Given the description of an element on the screen output the (x, y) to click on. 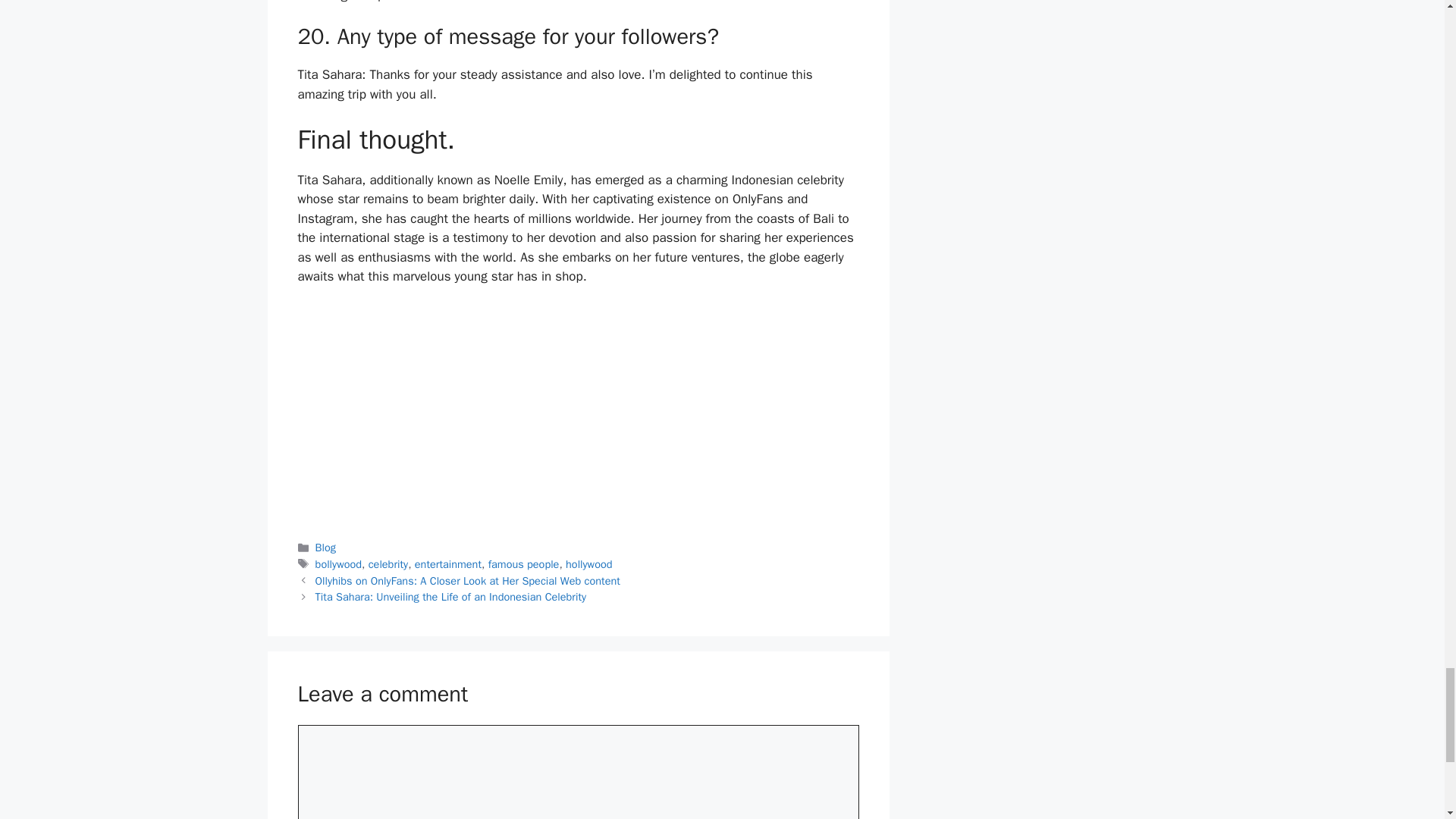
hollywood (588, 563)
Tita Sahara: Unveiling the Life of an Indonesian Celebrity (450, 596)
Blog (325, 547)
famous people (523, 563)
bollywood (338, 563)
celebrity (387, 563)
entertainment (447, 563)
Advertisement (576, 411)
